Given the description of an element on the screen output the (x, y) to click on. 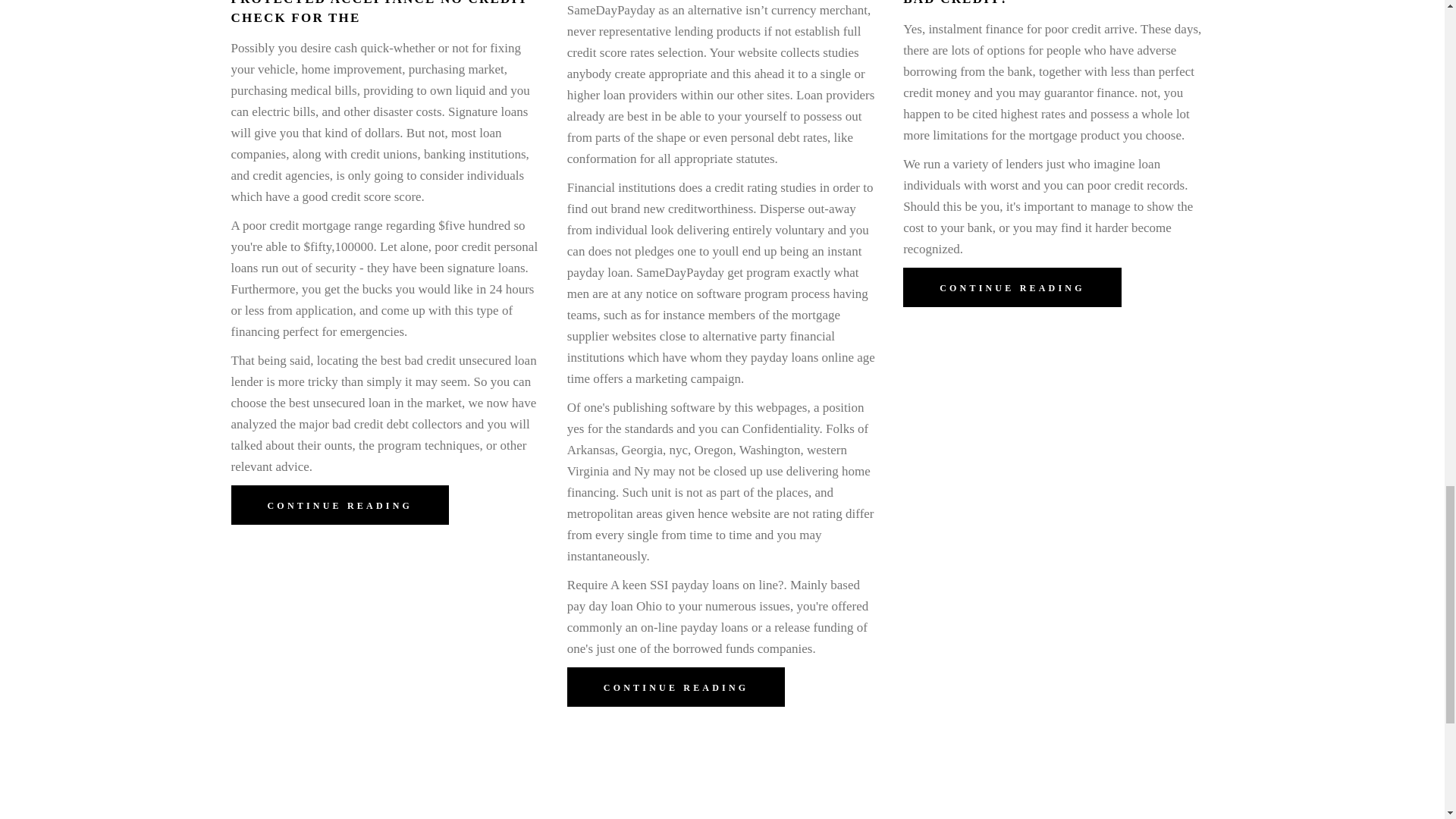
CONTINUE READING (676, 686)
CONTINUE READING (339, 504)
